Given the description of an element on the screen output the (x, y) to click on. 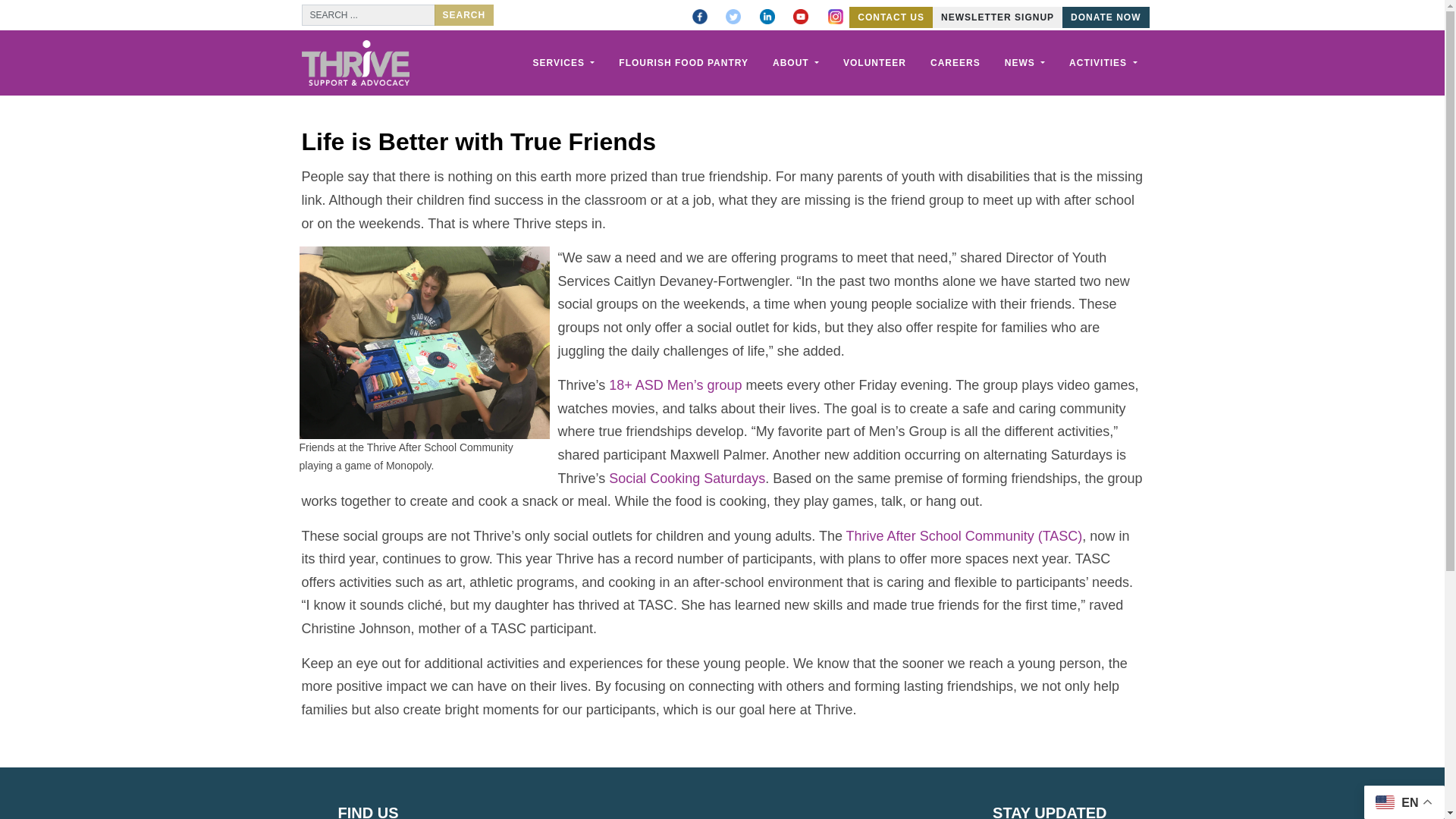
VOLUNTEER (874, 62)
NEWSLETTER SIGNUP (997, 16)
ABOUT (796, 62)
DONATE NOW (1105, 16)
SERVICES (562, 62)
ACTIVITIES (1102, 62)
SEARCH (463, 14)
CONTACT US (890, 16)
CAREERS (955, 62)
NEWS (1024, 62)
FLOURISH FOOD PANTRY (683, 62)
